Given the description of an element on the screen output the (x, y) to click on. 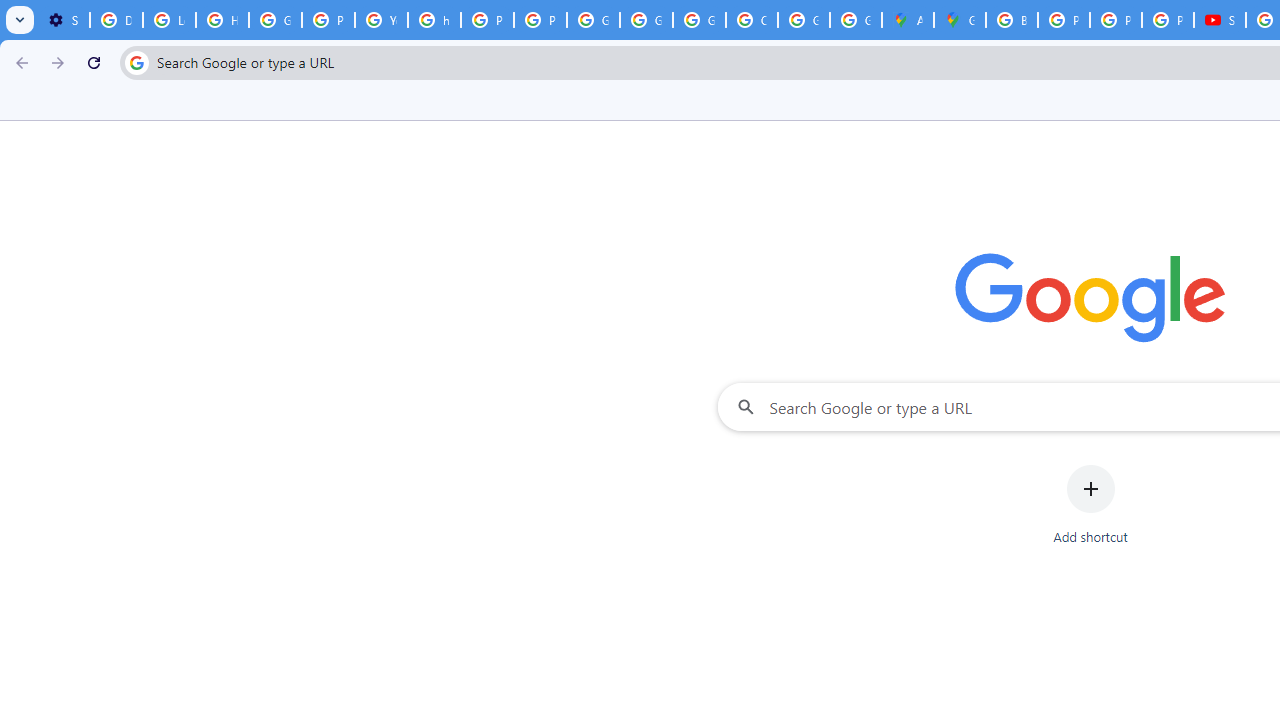
Subscriptions - YouTube (1219, 20)
Privacy Help Center - Policies Help (487, 20)
Blogger Policies and Guidelines - Transparency Center (1011, 20)
Privacy Help Center - Policies Help (1115, 20)
Privacy Help Center - Policies Help (328, 20)
Delete photos & videos - Computer - Google Photos Help (116, 20)
